Given the description of an element on the screen output the (x, y) to click on. 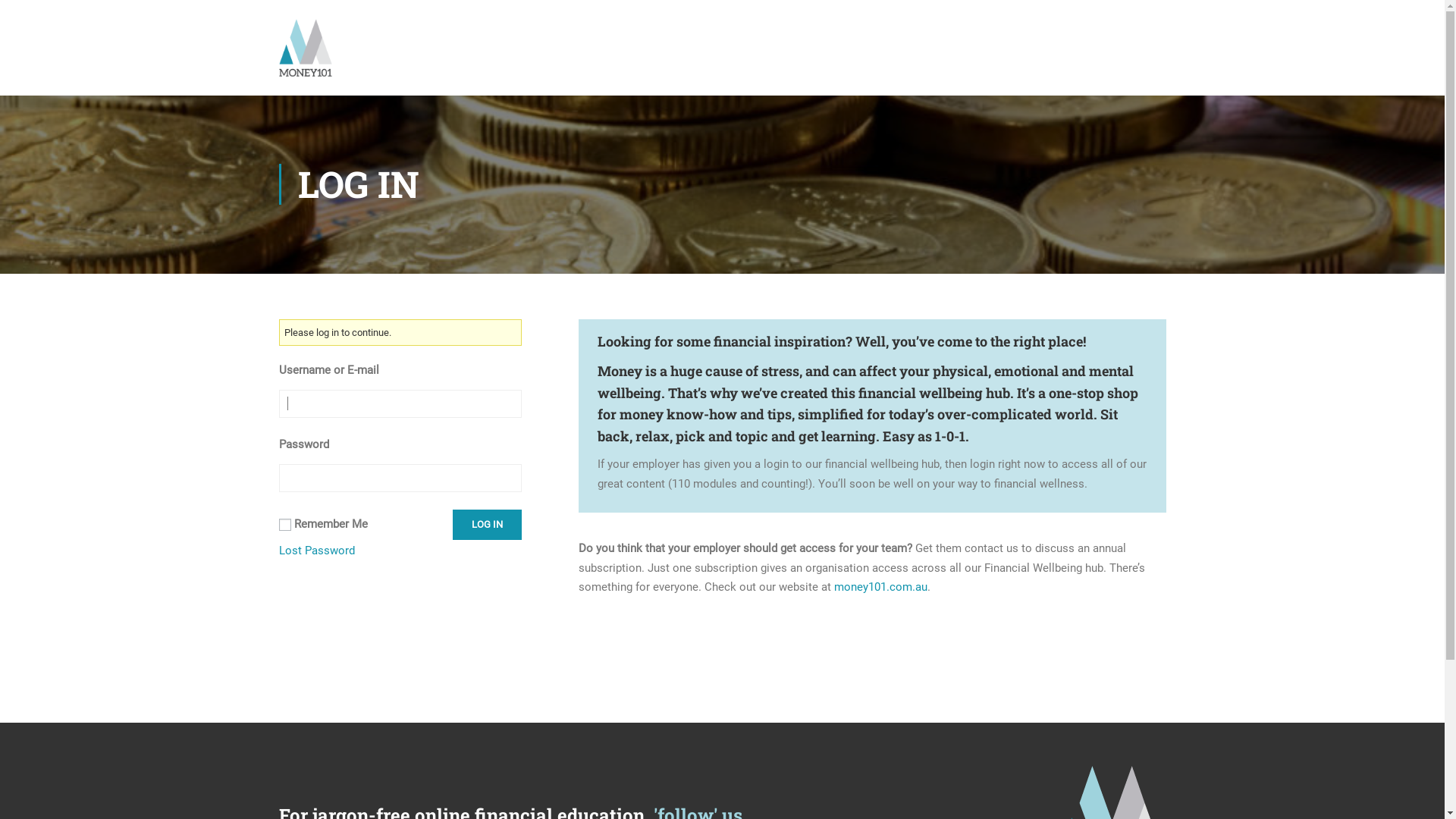
money101.com.au Element type: text (880, 586)
Log In Element type: text (485, 524)
Lost Password Element type: text (316, 550)
